Given the description of an element on the screen output the (x, y) to click on. 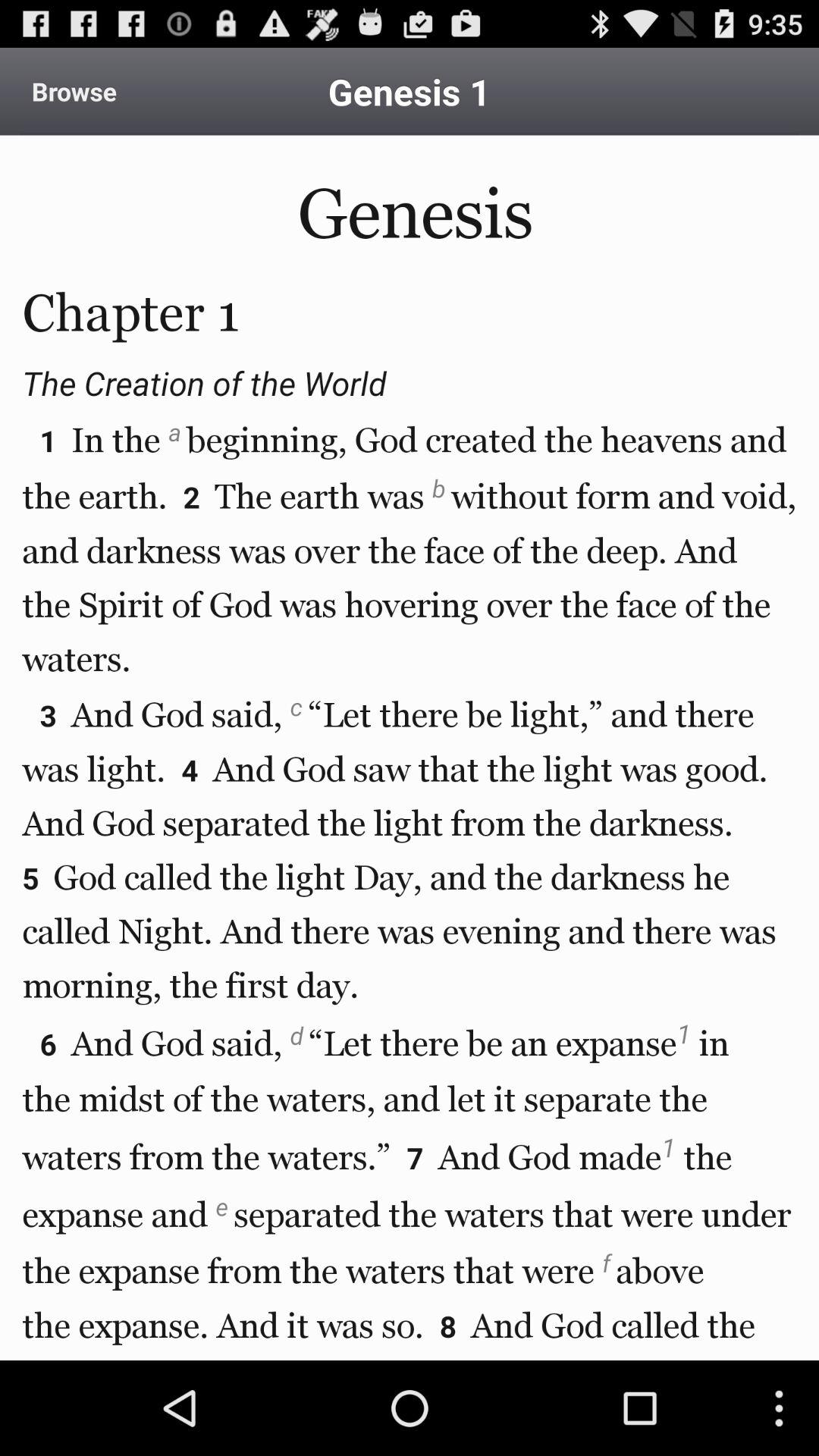
choose browse (73, 91)
